Given the description of an element on the screen output the (x, y) to click on. 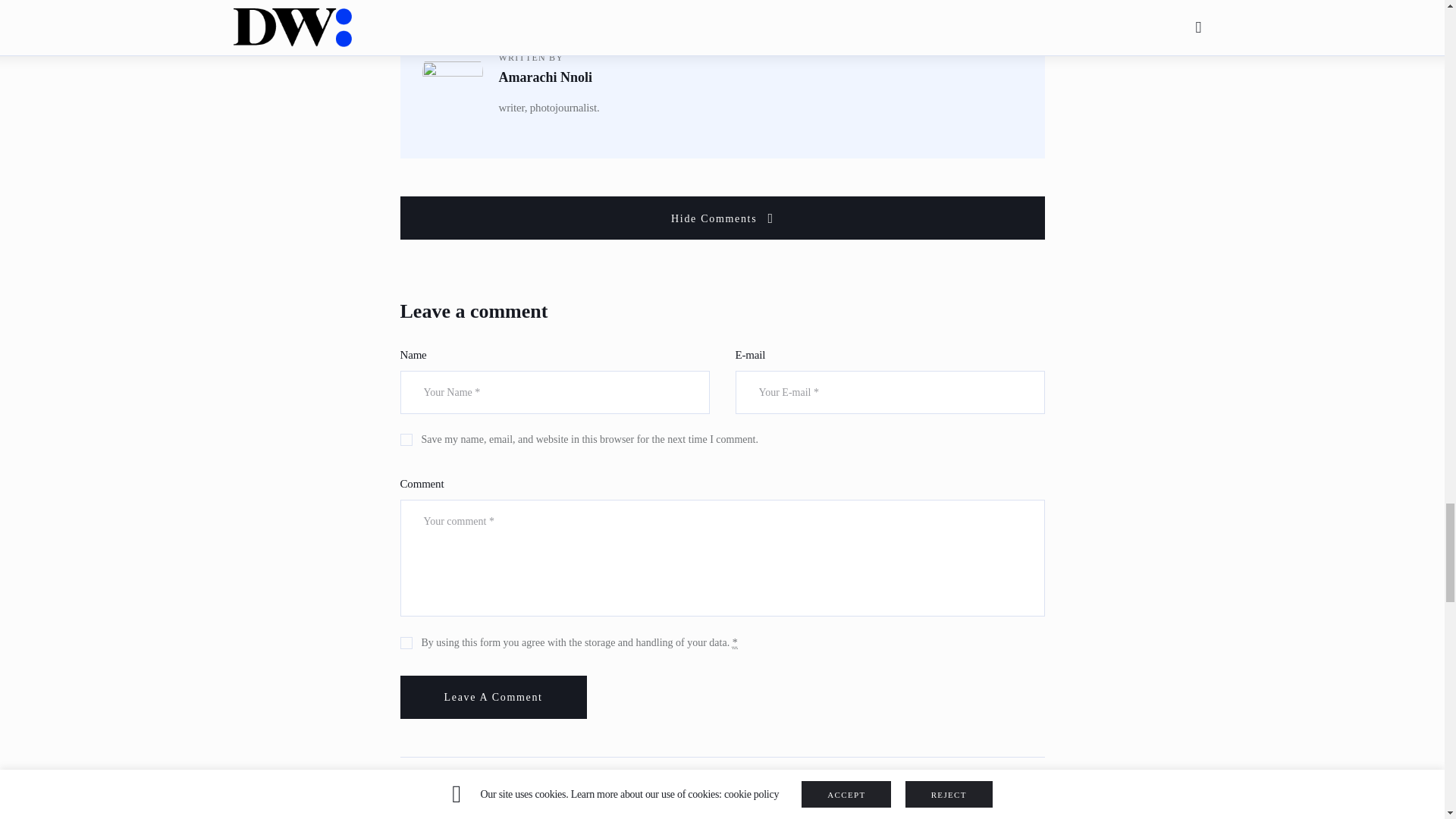
yes (405, 437)
Hide Comments (722, 217)
Amarachi Nnoli (759, 76)
Leave A Comment (493, 697)
1 (405, 640)
